Given the description of an element on the screen output the (x, y) to click on. 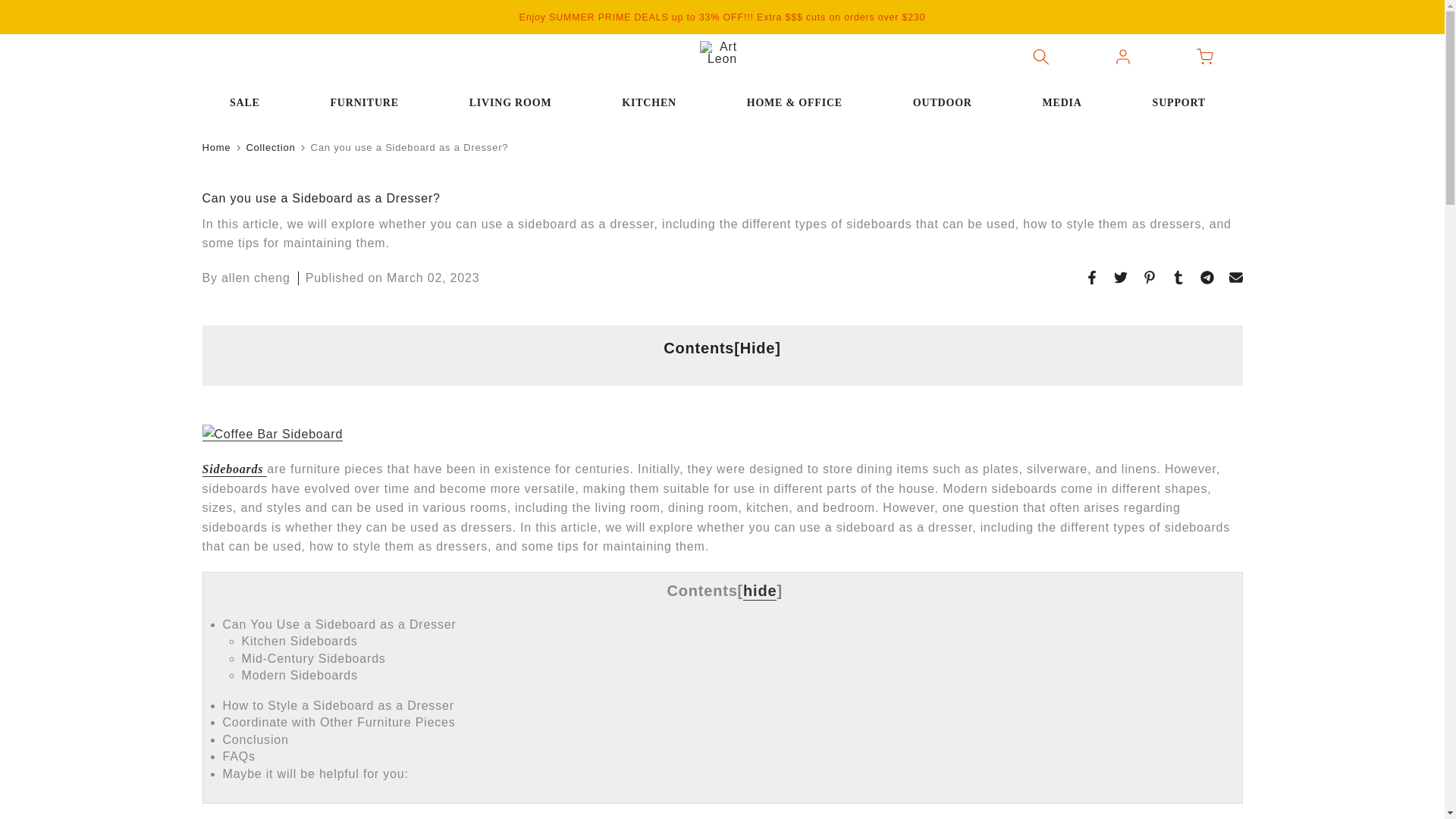
Collection (270, 147)
SUPPORT (1182, 103)
OUTDOOR (946, 103)
Home (216, 147)
LIVING ROOM (514, 103)
Sideboards (234, 469)
FURNITURE (368, 103)
Skip to content (10, 7)
MEDIA (1066, 103)
KITCHEN (653, 103)
